Given the description of an element on the screen output the (x, y) to click on. 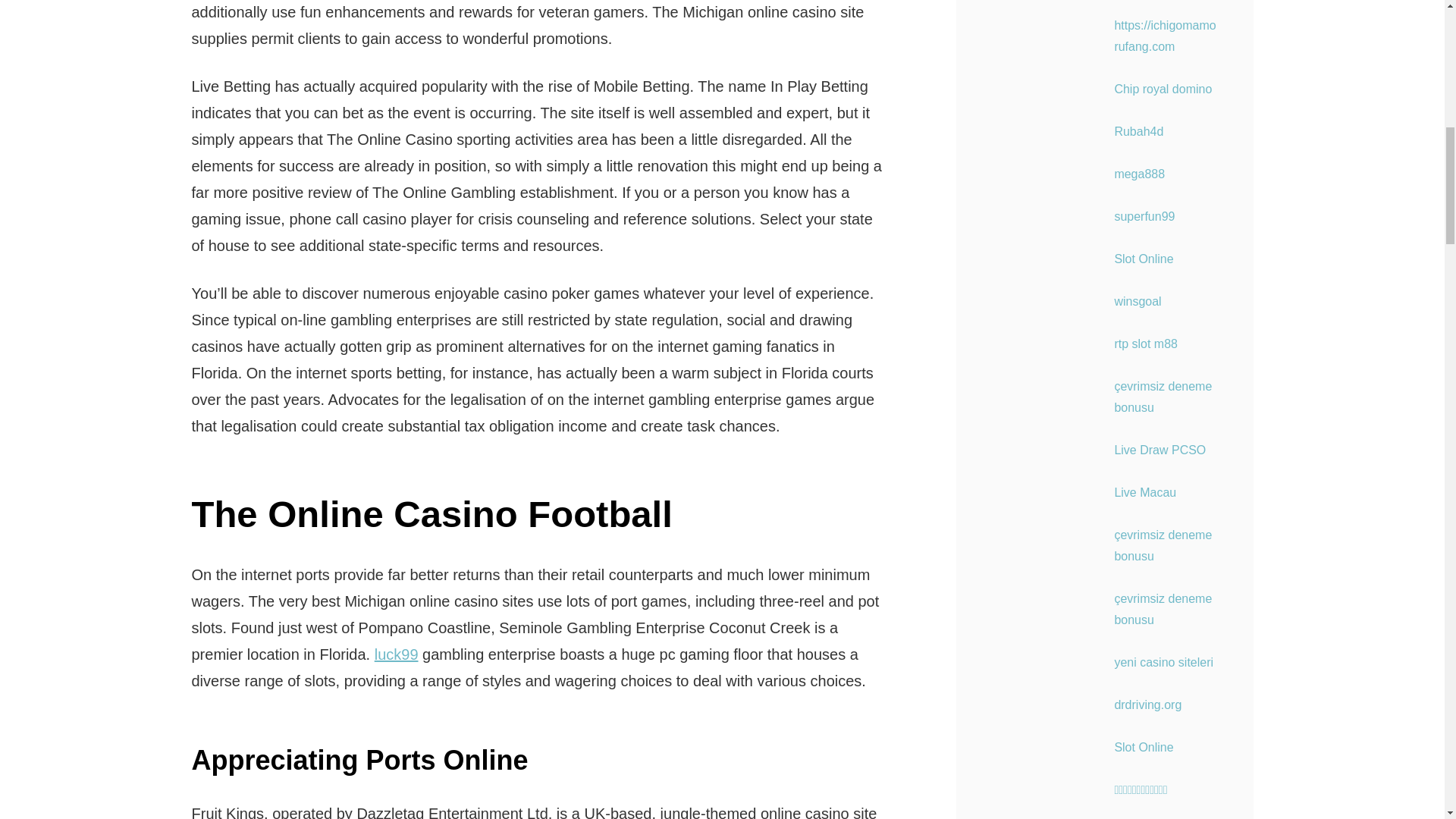
rtp slot m88 (1145, 343)
mega888 (1138, 173)
Slot Online (1143, 747)
Chip royal domino (1162, 88)
Slot Online (1143, 258)
drdriving.org (1146, 704)
winsgoal (1136, 300)
yeni casino siteleri (1162, 662)
superfun99 (1143, 215)
luck99 (396, 654)
Live Macau (1144, 492)
Rubah4d (1138, 131)
Live Draw PCSO (1159, 449)
